Given the description of an element on the screen output the (x, y) to click on. 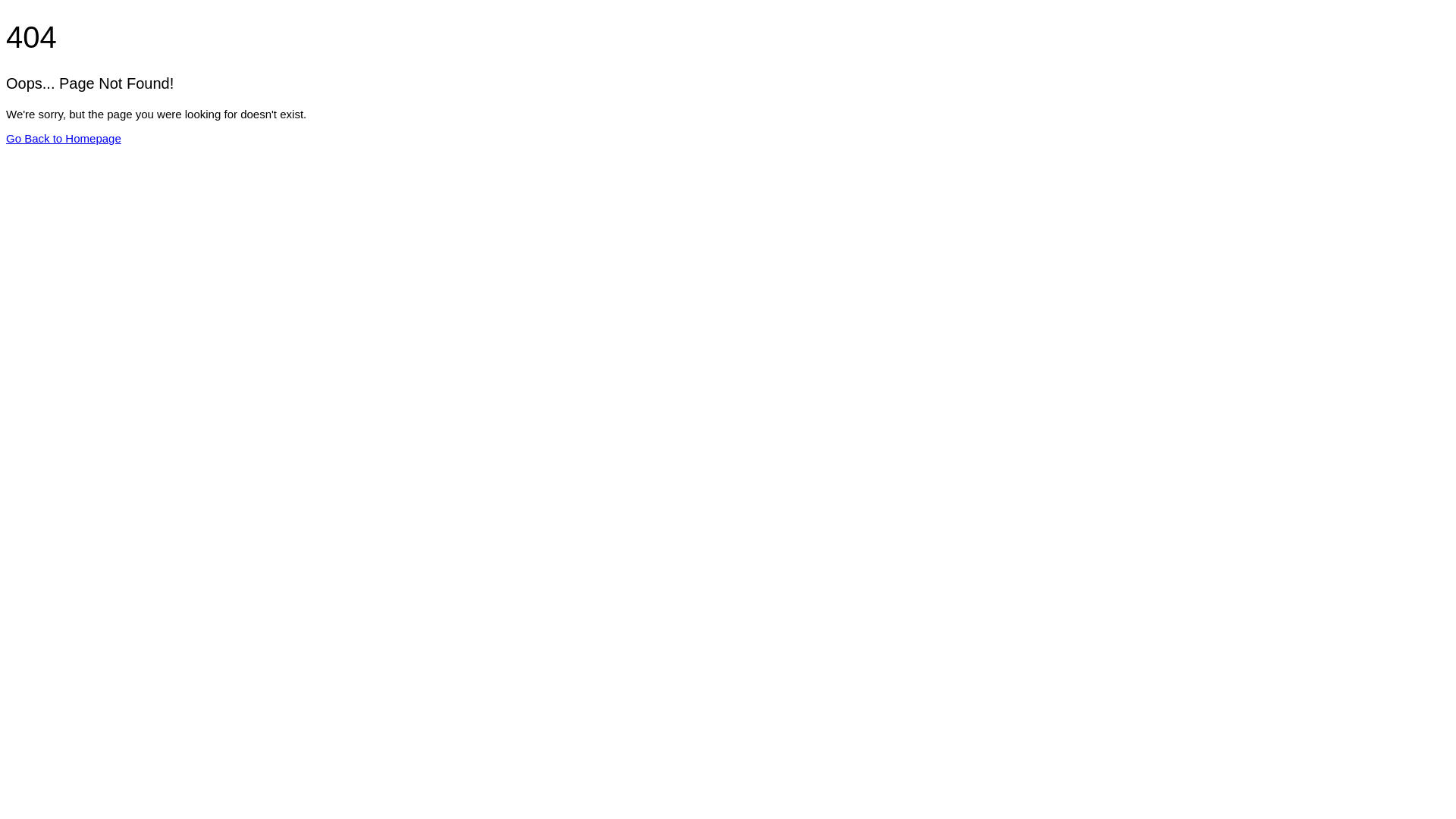
Go Back to Homepage Element type: text (63, 137)
